Given the description of an element on the screen output the (x, y) to click on. 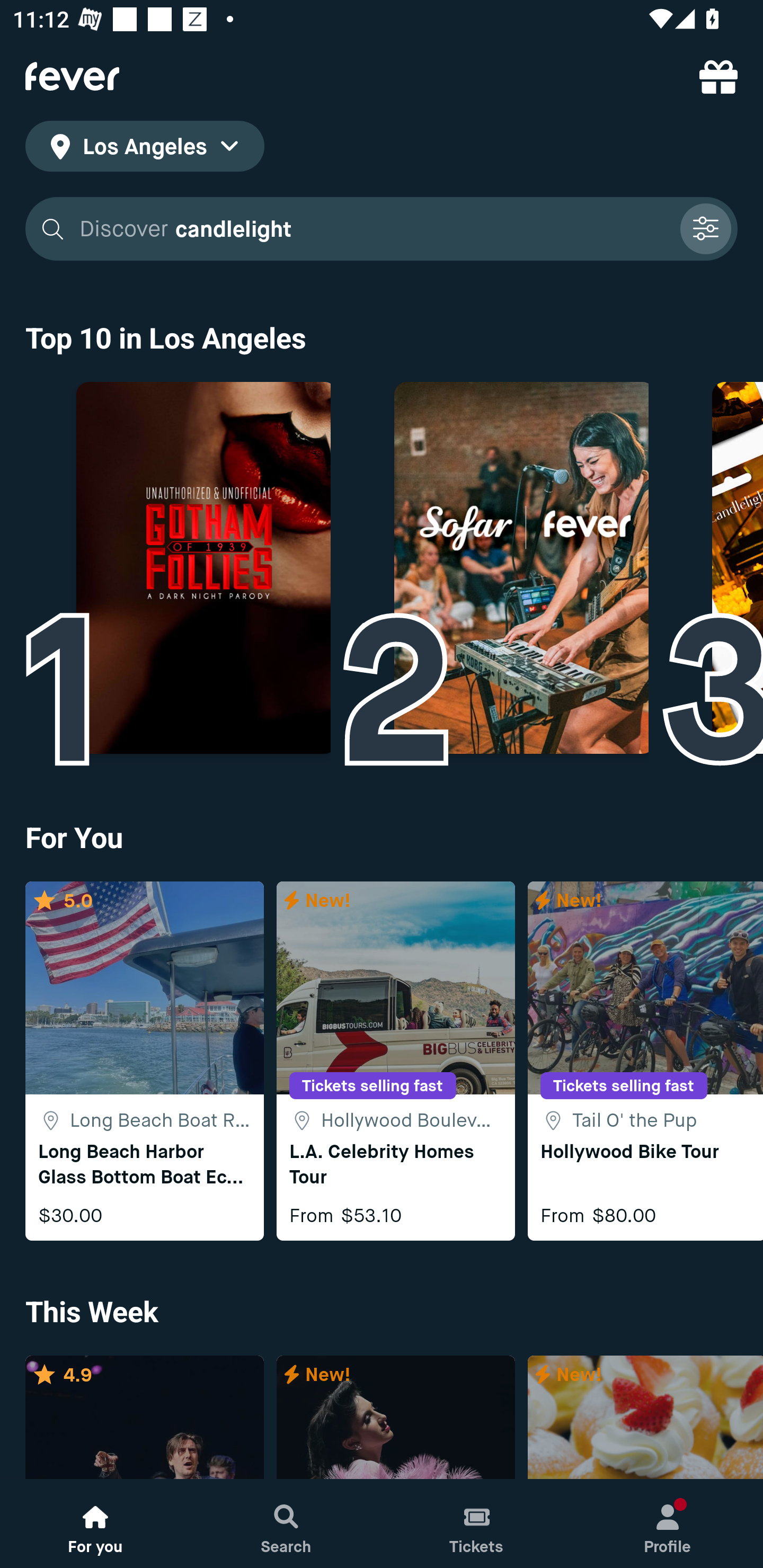
referral (718, 75)
location icon Los Angeles location icon (144, 149)
Discover candlelight (381, 228)
Discover candlelight (373, 228)
Search (285, 1523)
Tickets (476, 1523)
Profile, New notification Profile (667, 1523)
